Given the description of an element on the screen output the (x, y) to click on. 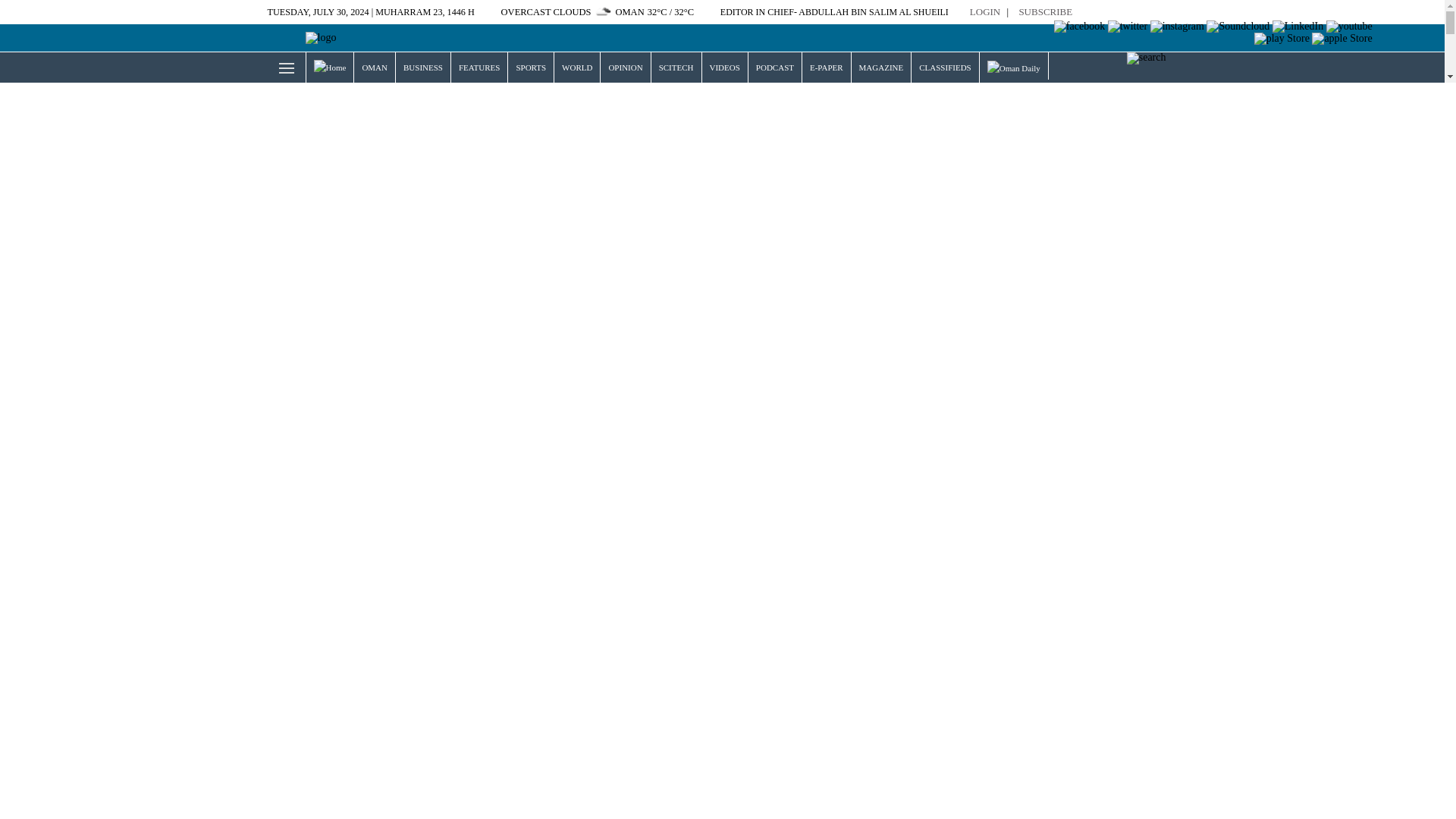
WORLD (576, 67)
Youtube (1349, 26)
CLASSIFIEDS (944, 67)
Oman Observer (301, 37)
BUSINESS (422, 67)
FEATURES (478, 67)
VIDEOS (724, 67)
SPORTS (530, 67)
OMAN (373, 67)
SCITECH (675, 67)
OMAN (373, 67)
VIDEOS (724, 67)
WORLD (576, 67)
Subscribe (1044, 12)
MAGAZINE (881, 67)
